Given the description of an element on the screen output the (x, y) to click on. 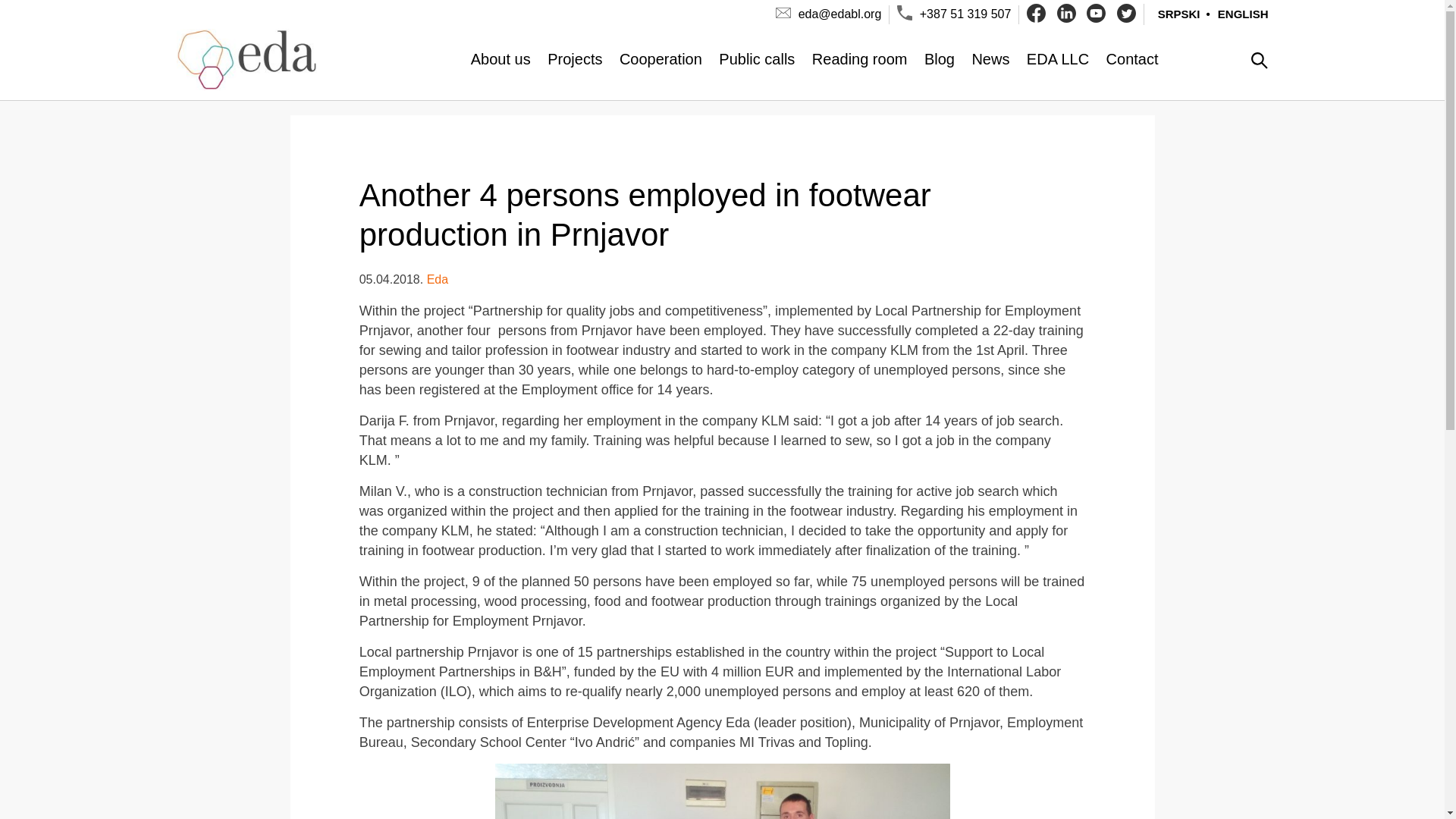
About us (500, 58)
Contact (1132, 58)
Reading room (859, 58)
ENGLISH (1233, 13)
Cooperation (660, 58)
Eda (437, 278)
Blog (939, 58)
EDA LLC (1057, 58)
SRPSKI (1175, 13)
News (990, 58)
Projects (574, 58)
Public calls (756, 58)
